Given the description of an element on the screen output the (x, y) to click on. 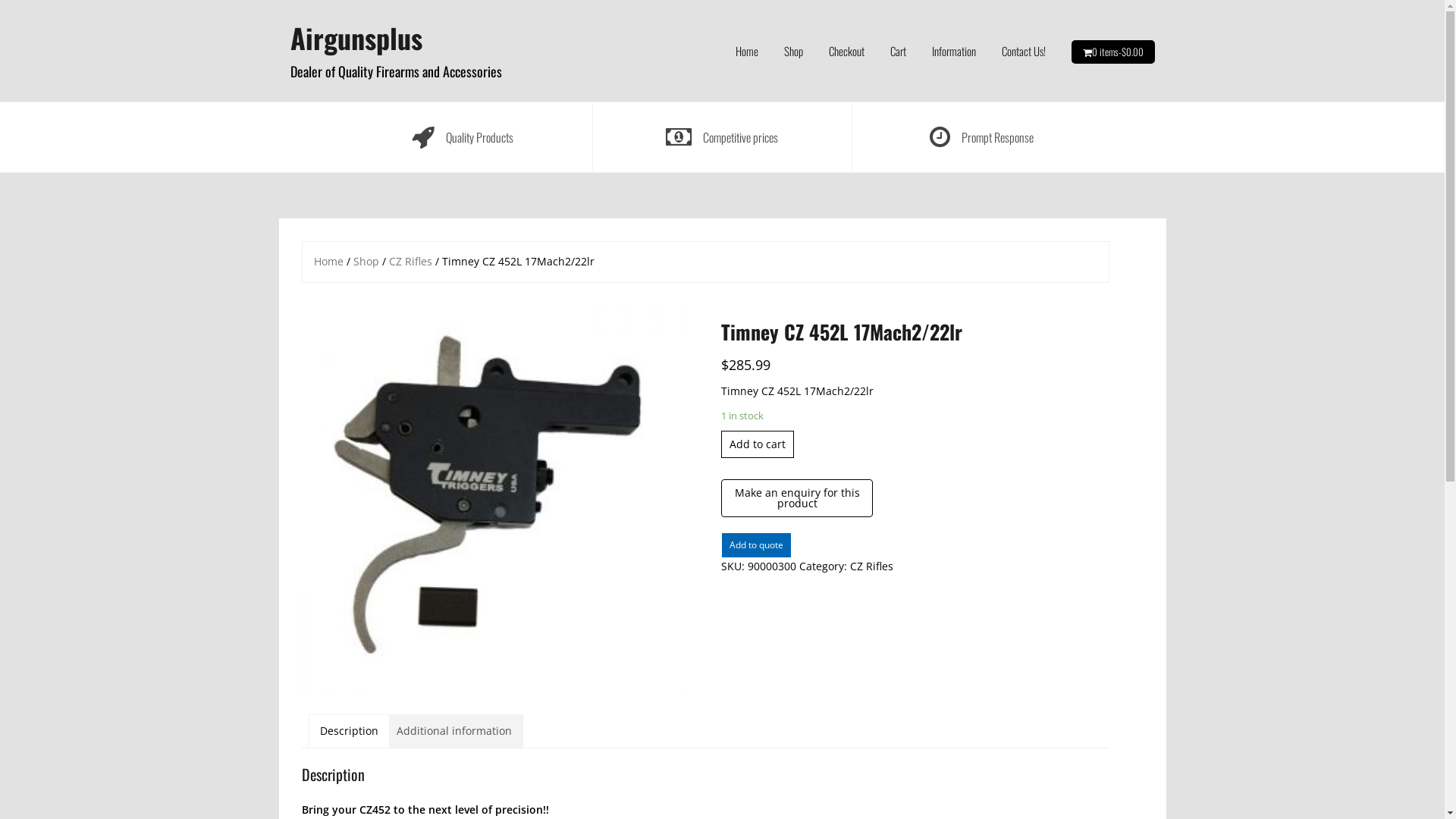
Description Element type: text (349, 730)
Shop Element type: text (366, 261)
Home Element type: text (746, 50)
Add to cart Element type: text (757, 444)
CZ Rifles Element type: text (409, 261)
Cart Element type: text (898, 50)
Checkout Element type: text (845, 50)
Information Element type: text (953, 50)
0 items-$0.00 Element type: text (1117, 51)
Contact Us! Element type: text (1022, 50)
cz452m-timney Element type: hover (495, 499)
Home Element type: text (328, 261)
CZ Rifles Element type: text (871, 565)
Additional information Element type: text (453, 730)
Airgunsplus Element type: text (355, 37)
Shop Element type: text (793, 50)
Add to quote Element type: text (756, 545)
